Given the description of an element on the screen output the (x, y) to click on. 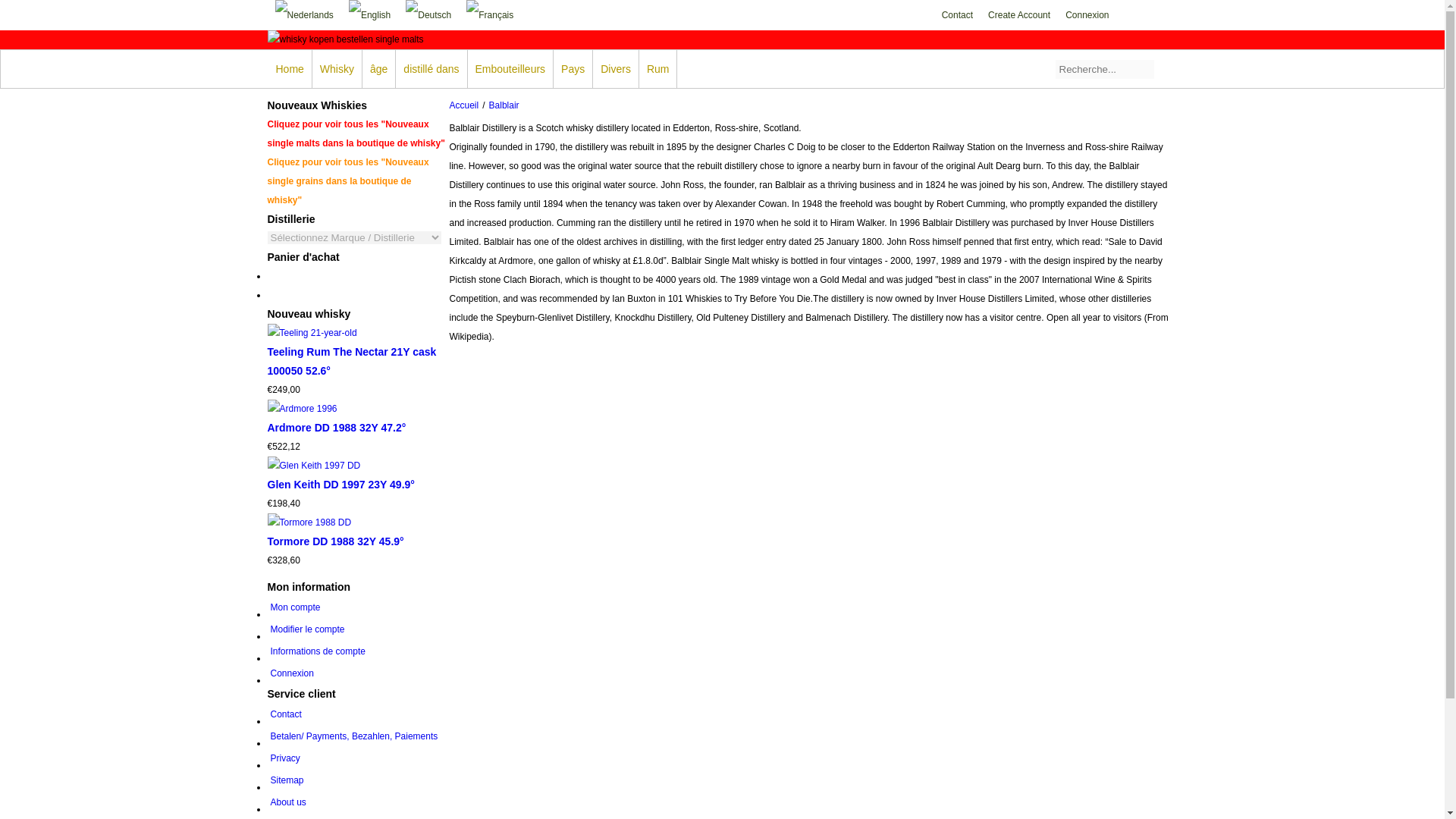
English (369, 14)
Deutsch (428, 14)
Nederlands (304, 14)
Home (289, 68)
Whisky (337, 68)
